Given the description of an element on the screen output the (x, y) to click on. 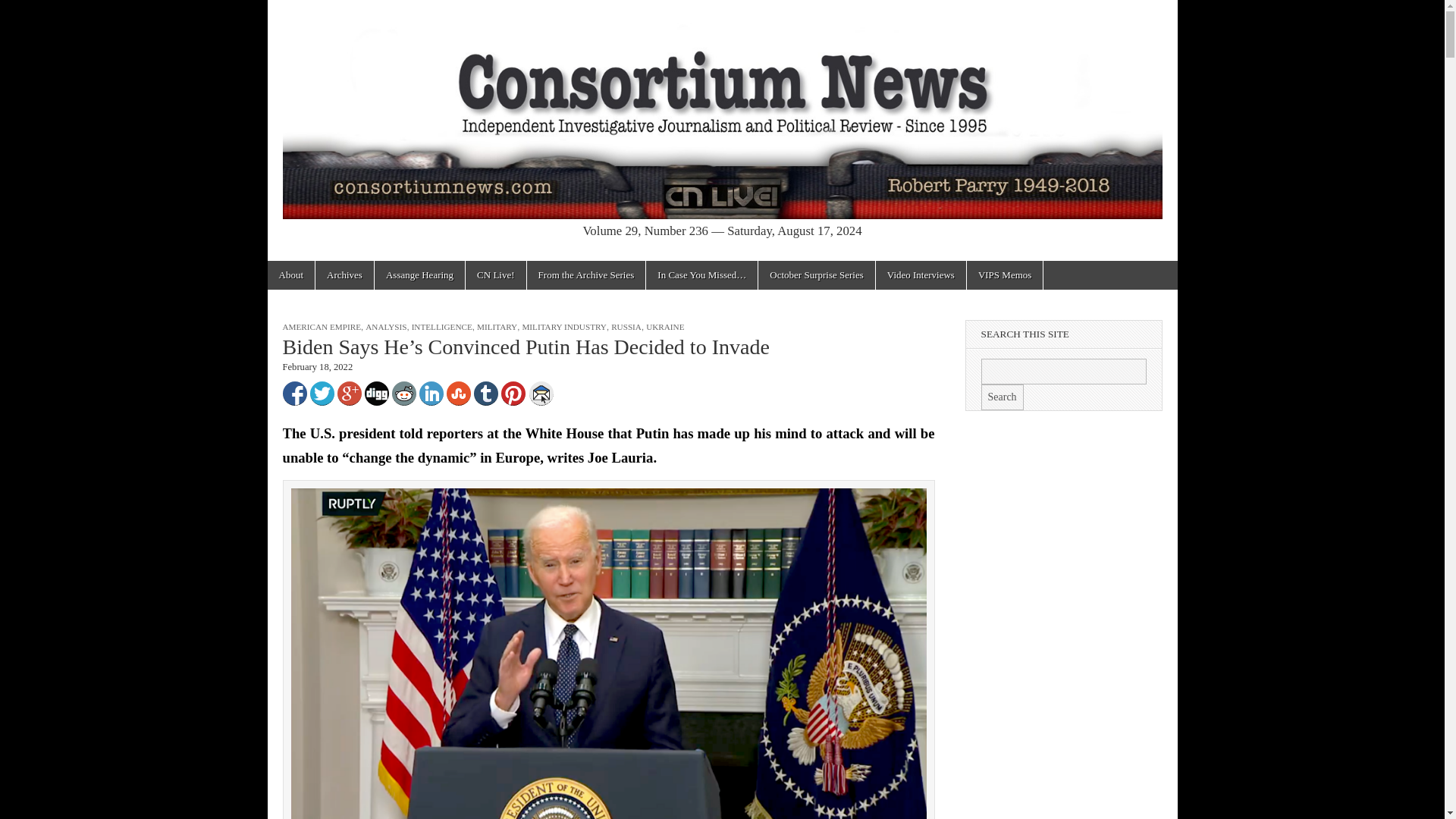
Share to StumbleUpon (457, 393)
ANALYSIS (385, 326)
Search (1002, 397)
Share to Google Plus (348, 393)
From the Archive Series (586, 275)
INTELLIGENCE (441, 326)
Share to Pinterest (512, 393)
MILITARY INDUSTRY (564, 326)
